Given the description of an element on the screen output the (x, y) to click on. 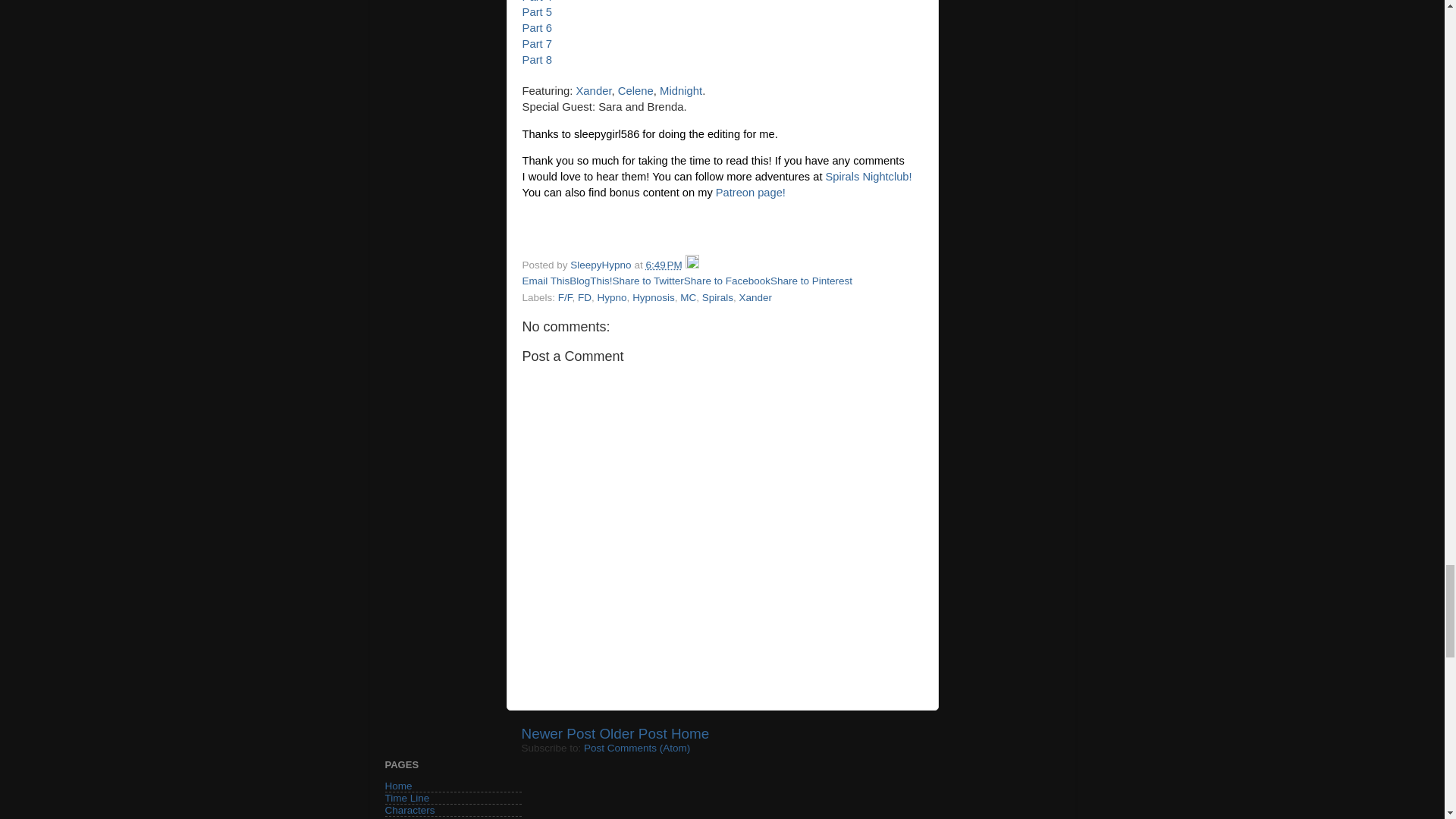
Share to Twitter (648, 280)
BlogThis! (590, 280)
Celene (635, 91)
MC (687, 297)
Hypnosis (653, 297)
Xander (593, 91)
Email This (545, 280)
Home (398, 785)
Edit Post (691, 265)
Share to Pinterest (810, 280)
Home (690, 733)
author profile (601, 265)
Newer Post (558, 733)
Email This (545, 280)
BlogThis! (590, 280)
